Given the description of an element on the screen output the (x, y) to click on. 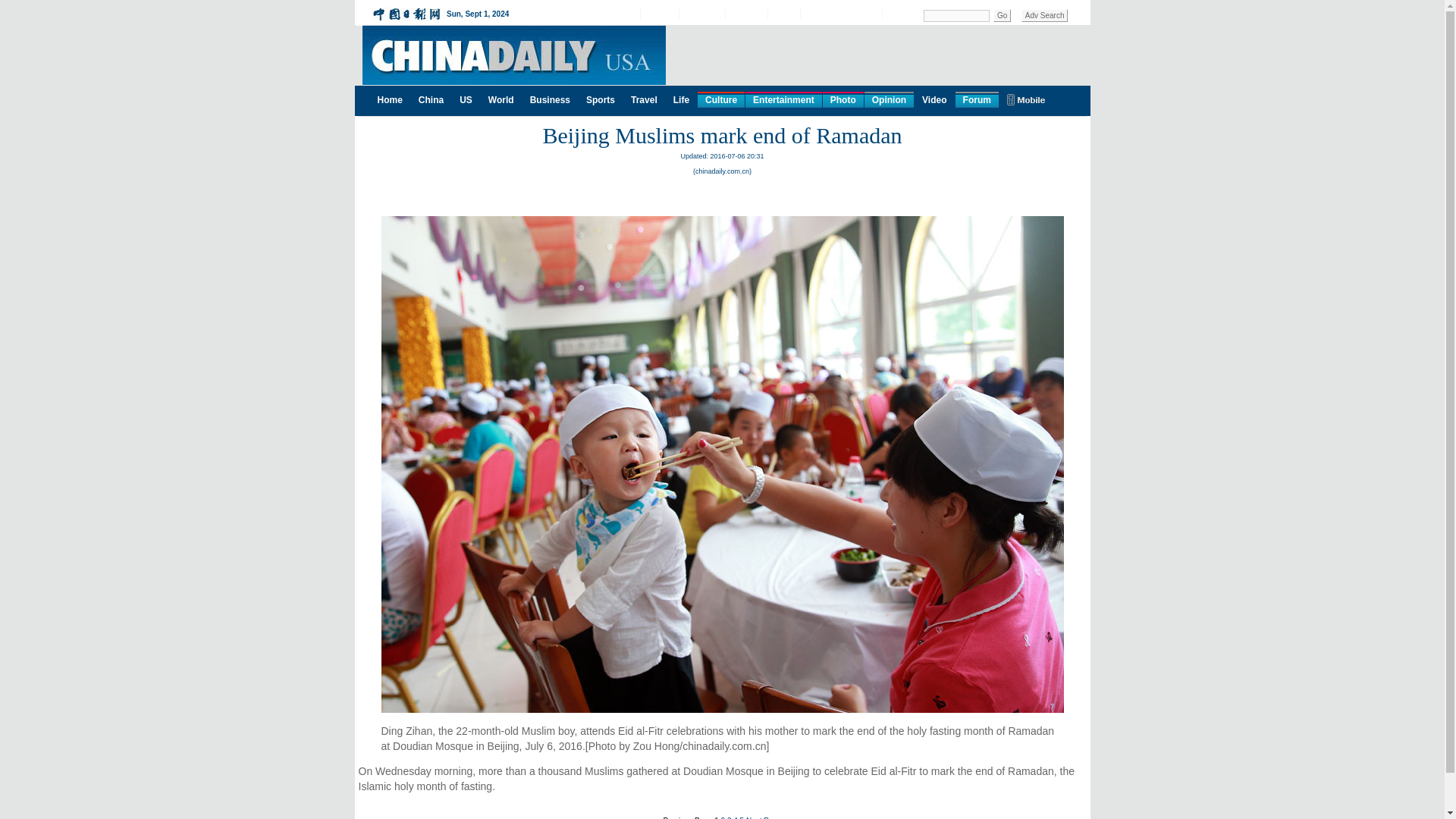
World (500, 99)
Business (550, 99)
Home (389, 99)
Sports (600, 99)
Travel (644, 99)
China (430, 99)
US (465, 99)
